Given the description of an element on the screen output the (x, y) to click on. 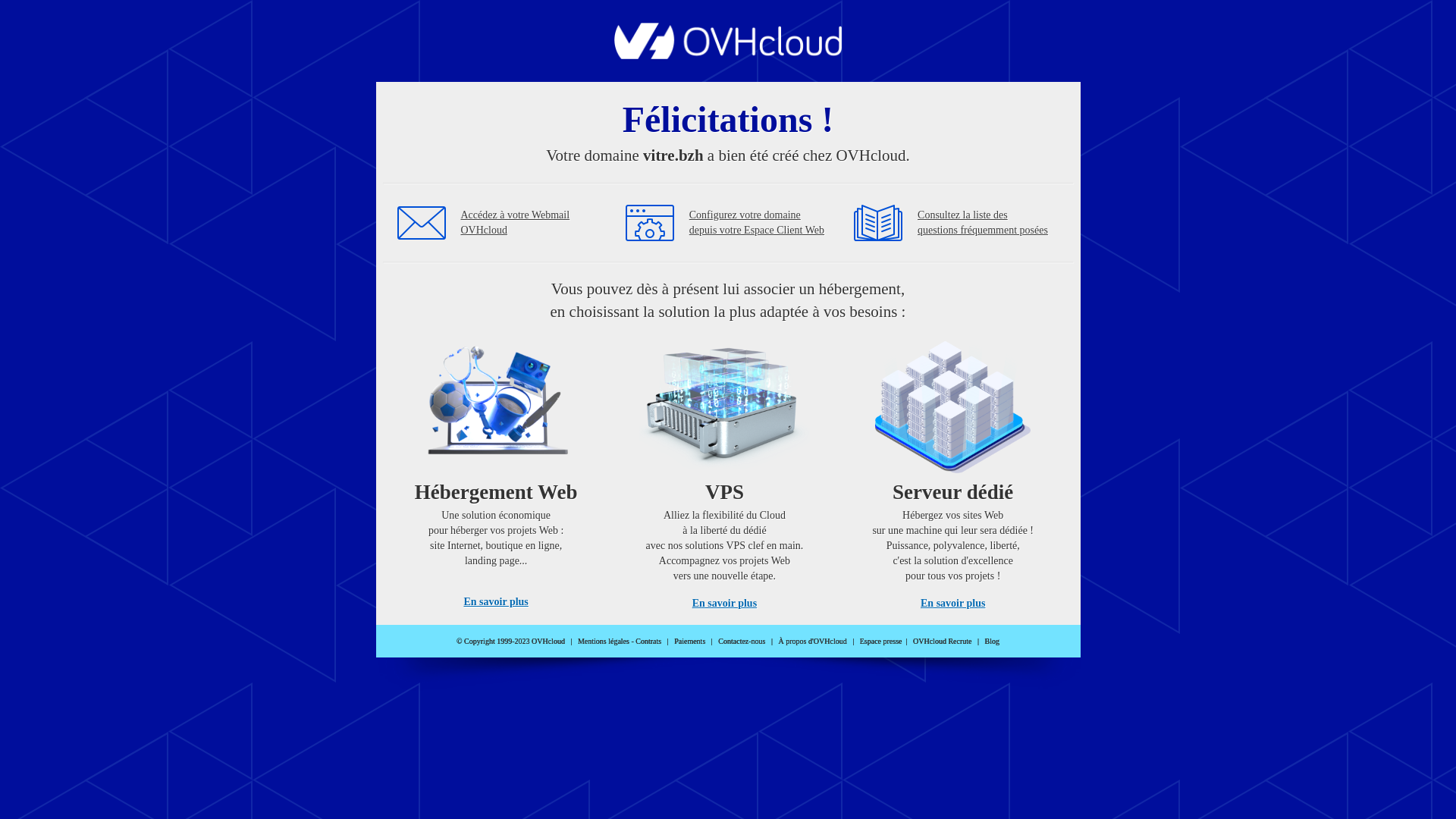
Contactez-nous Element type: text (741, 641)
Paiements Element type: text (689, 641)
En savoir plus Element type: text (724, 602)
OVHcloud Recrute Element type: text (942, 641)
Blog Element type: text (992, 641)
En savoir plus Element type: text (495, 601)
En savoir plus Element type: text (952, 602)
Espace presse Element type: text (880, 641)
Configurez votre domaine
depuis votre Espace Client Web Element type: text (756, 222)
OVHcloud Element type: hover (727, 54)
VPS Element type: hover (724, 469)
